Given the description of an element on the screen output the (x, y) to click on. 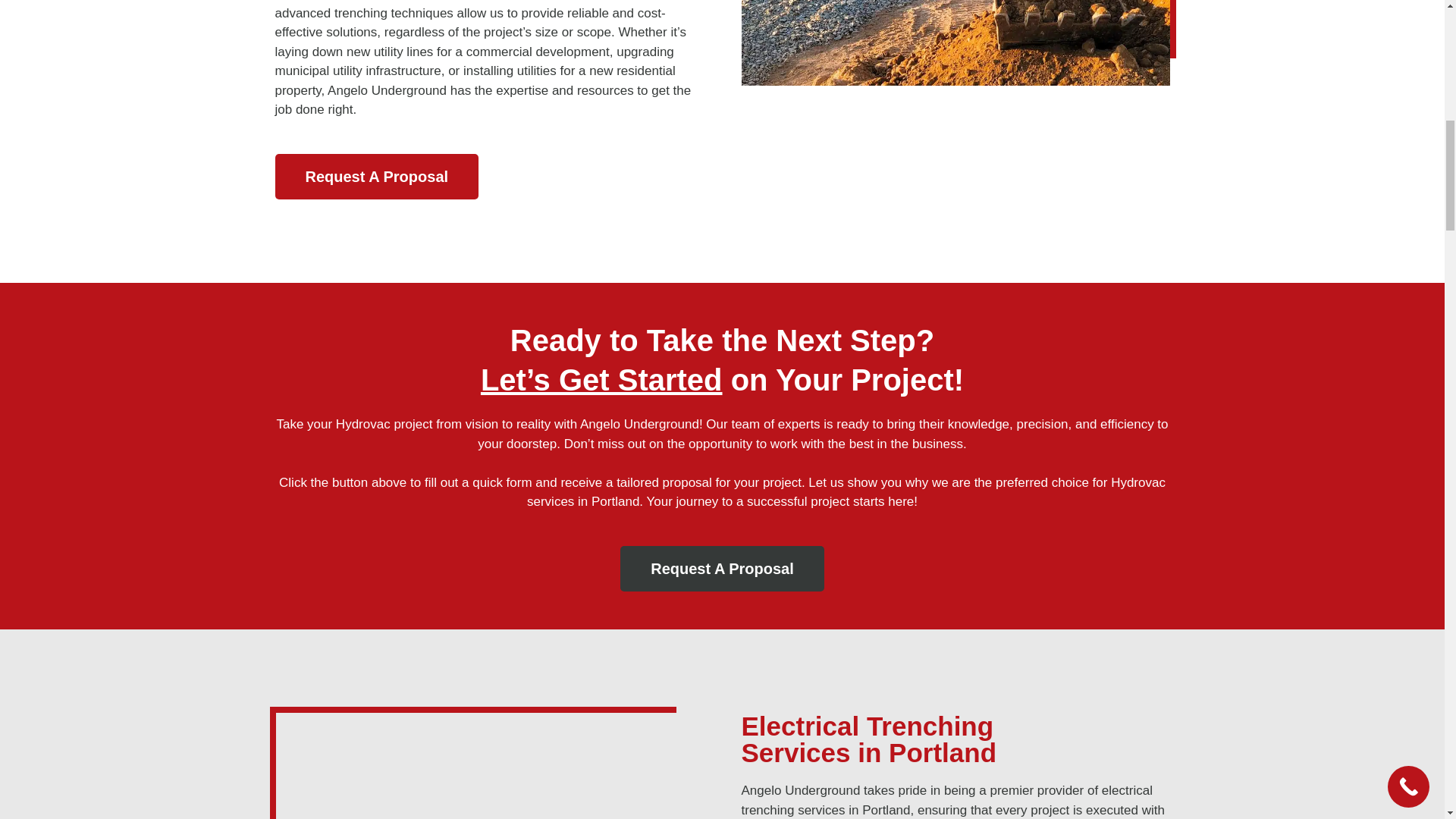
Request A Proposal (377, 176)
Request A Proposal (722, 568)
